Given the description of an element on the screen output the (x, y) to click on. 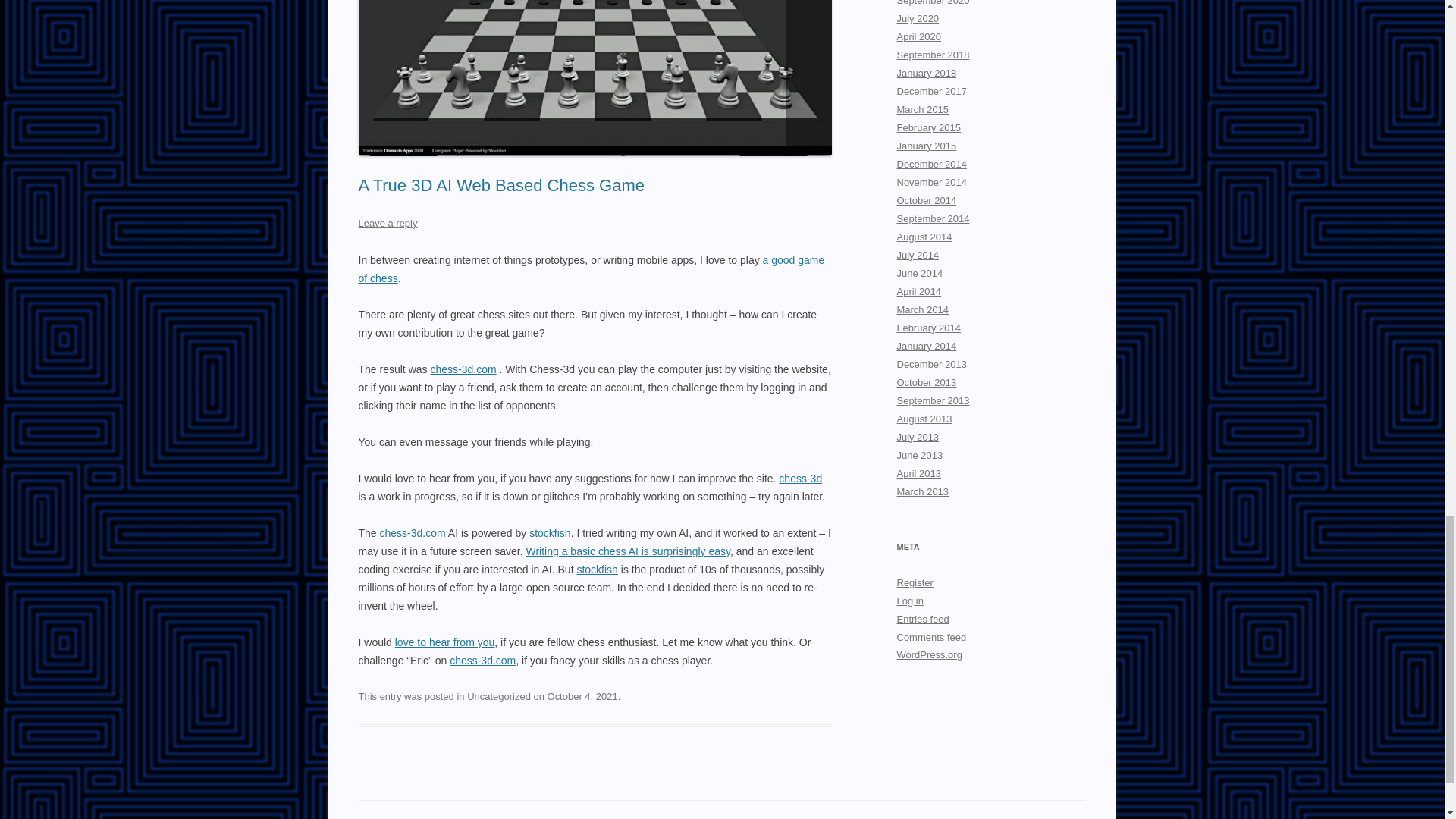
chess-3d (800, 478)
A True 3D AI Web Based Chess Game (500, 185)
chess-3d.com (482, 660)
2:04 am (582, 696)
October 4, 2021 (582, 696)
Leave a reply (387, 223)
chess-3d.com (462, 369)
a good game of chess (591, 268)
Writing a basic chess AI is surprisingly easy (627, 551)
chess-3d.com (412, 532)
